Given the description of an element on the screen output the (x, y) to click on. 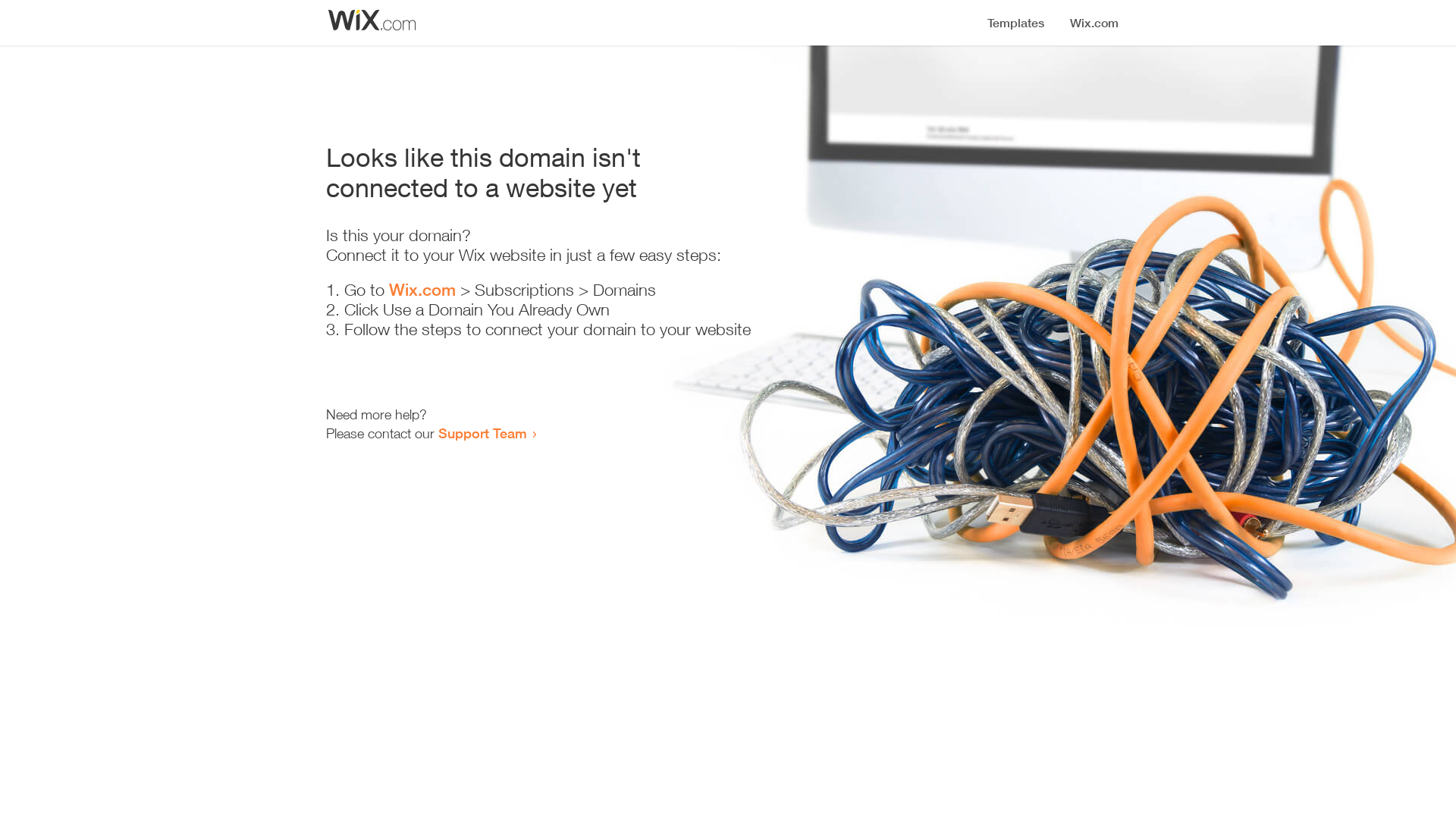
Support Team Element type: text (482, 432)
Wix.com Element type: text (422, 289)
